Given the description of an element on the screen output the (x, y) to click on. 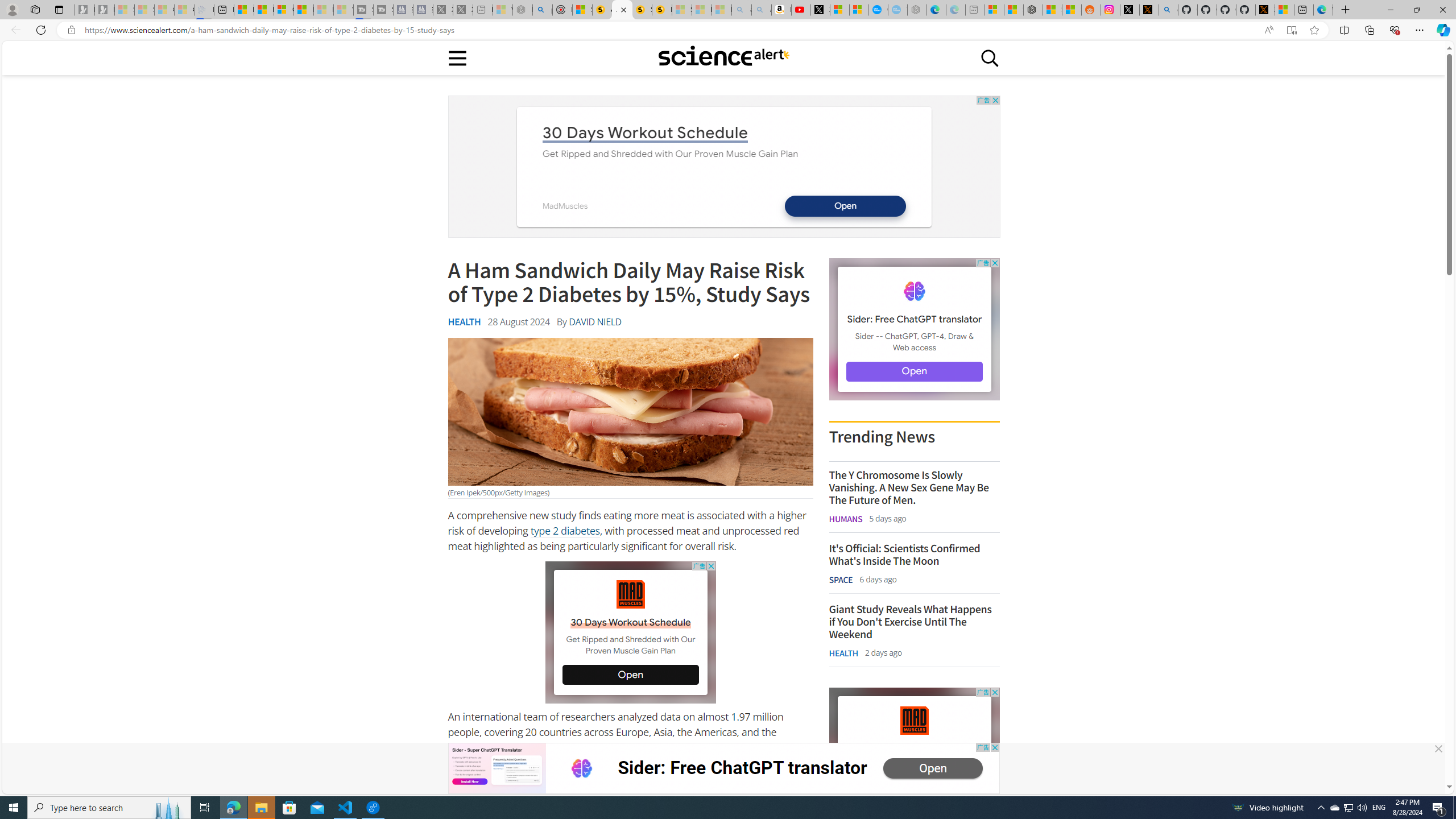
Day 1: Arriving in Yemen (surreal to be here) - YouTube (800, 9)
Class: sciencealert-search-desktop-svg  (989, 57)
poe - Search (542, 9)
ScienceAlert homepage (723, 57)
help.x.com | 524: A timeout occurred (1148, 9)
